Given the description of an element on the screen output the (x, y) to click on. 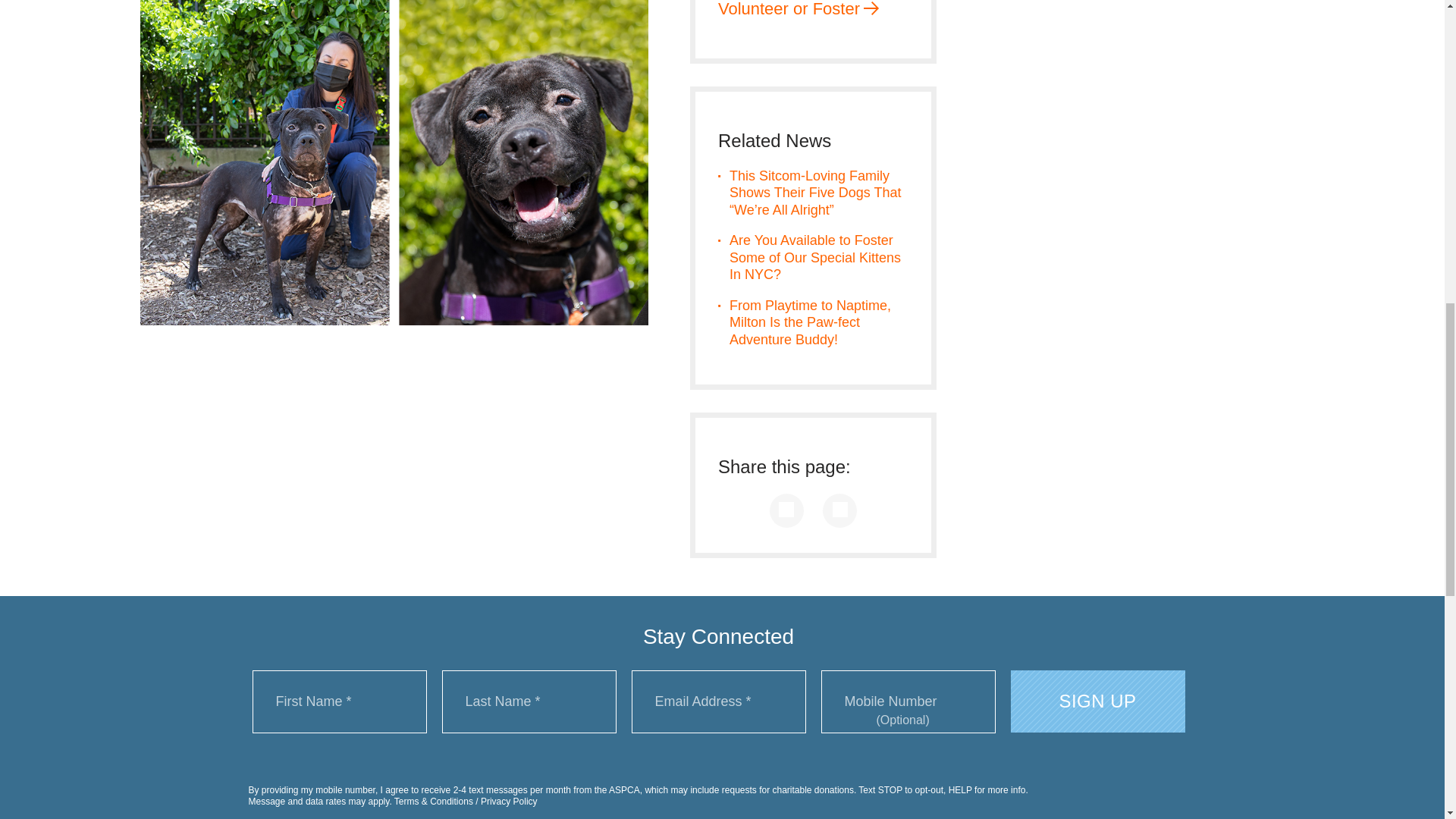
Sign Up (1097, 701)
Share on Facebook (786, 510)
Share this on Twitter (839, 510)
